Given the description of an element on the screen output the (x, y) to click on. 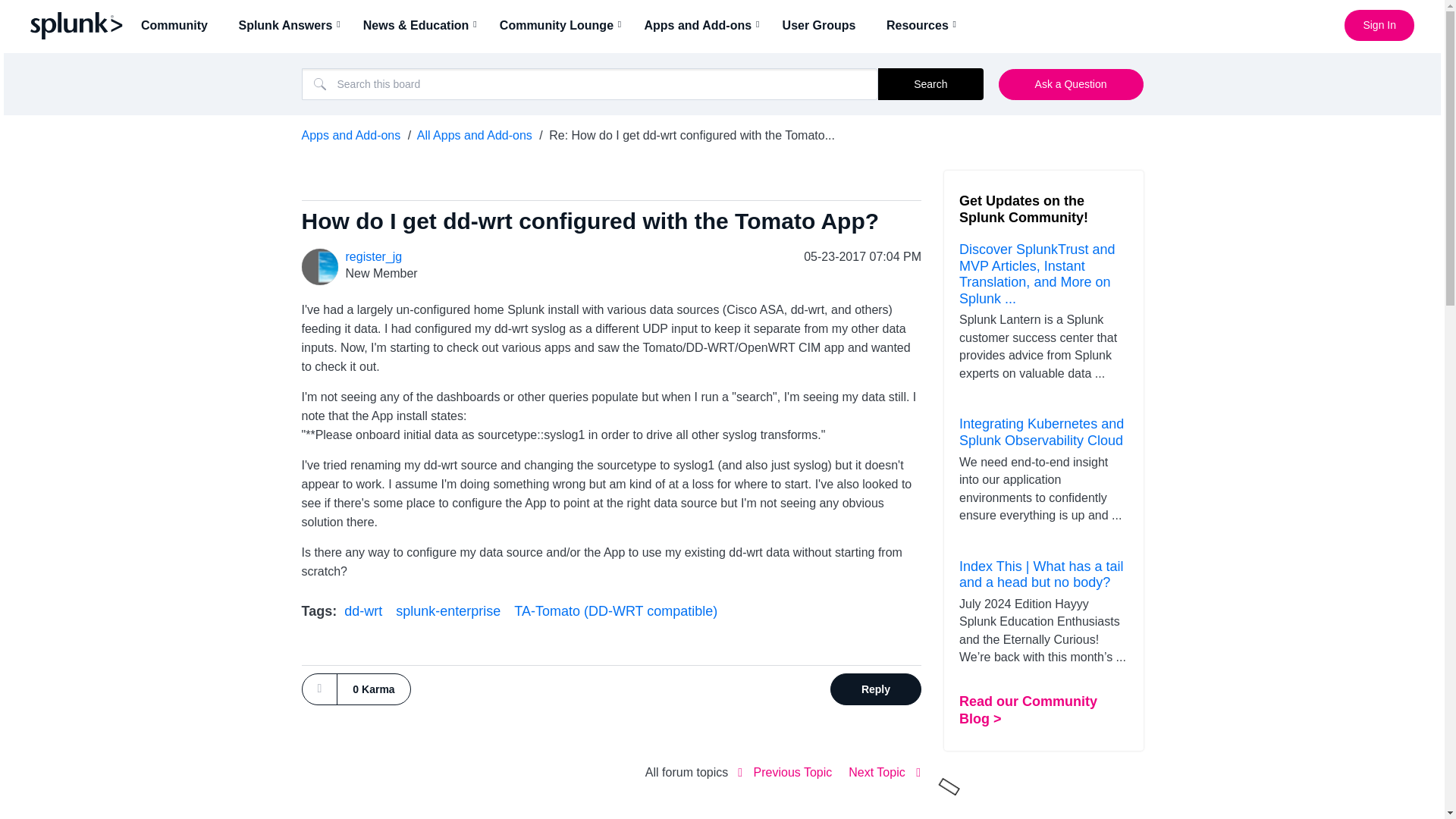
Search (929, 83)
Search (929, 83)
Splunk Answers (289, 25)
Community (178, 25)
Search (590, 83)
